Given the description of an element on the screen output the (x, y) to click on. 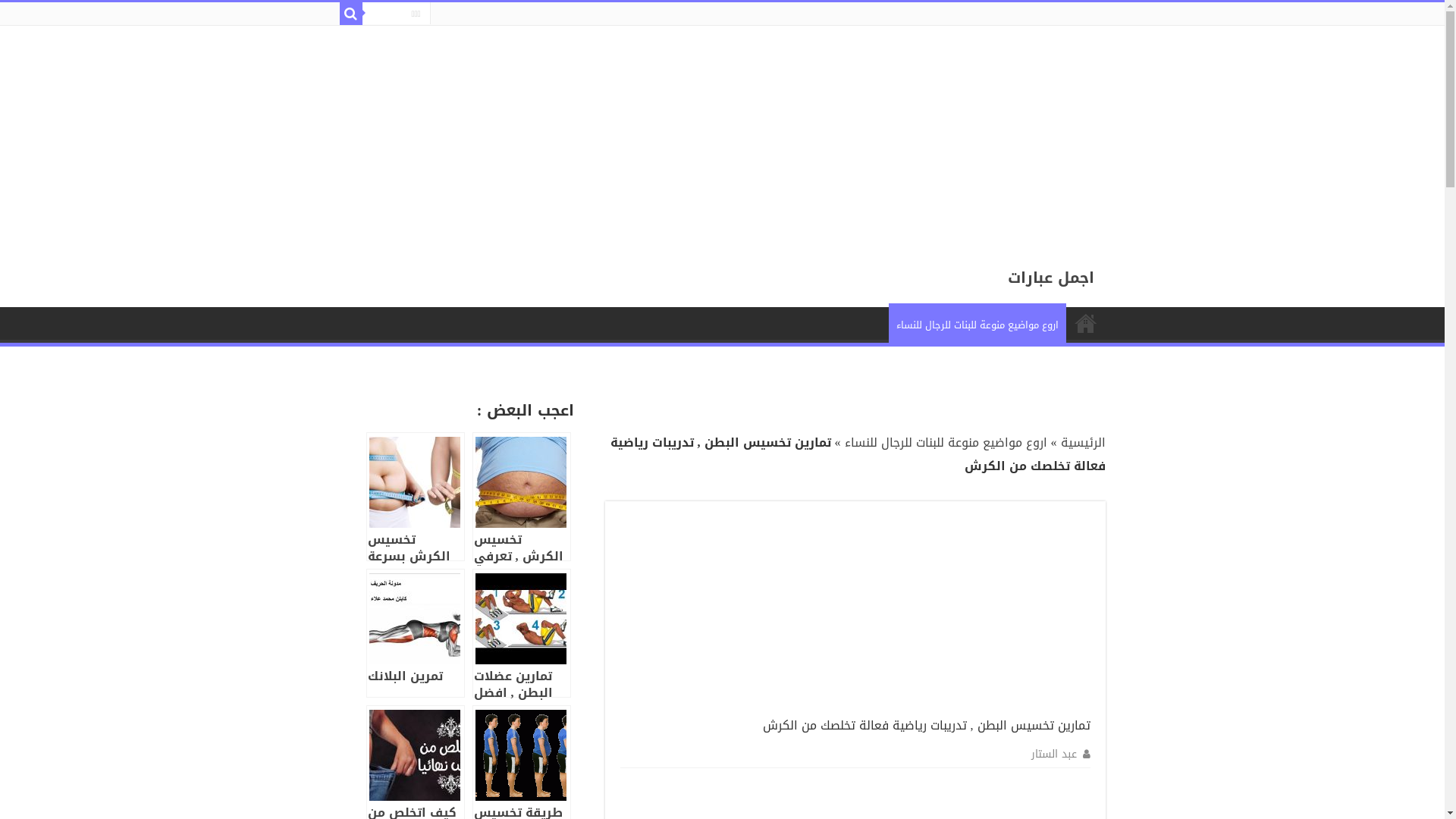
Advertisement Element type: hover (989, 131)
Advertisement Element type: hover (976, 611)
